Given the description of an element on the screen output the (x, y) to click on. 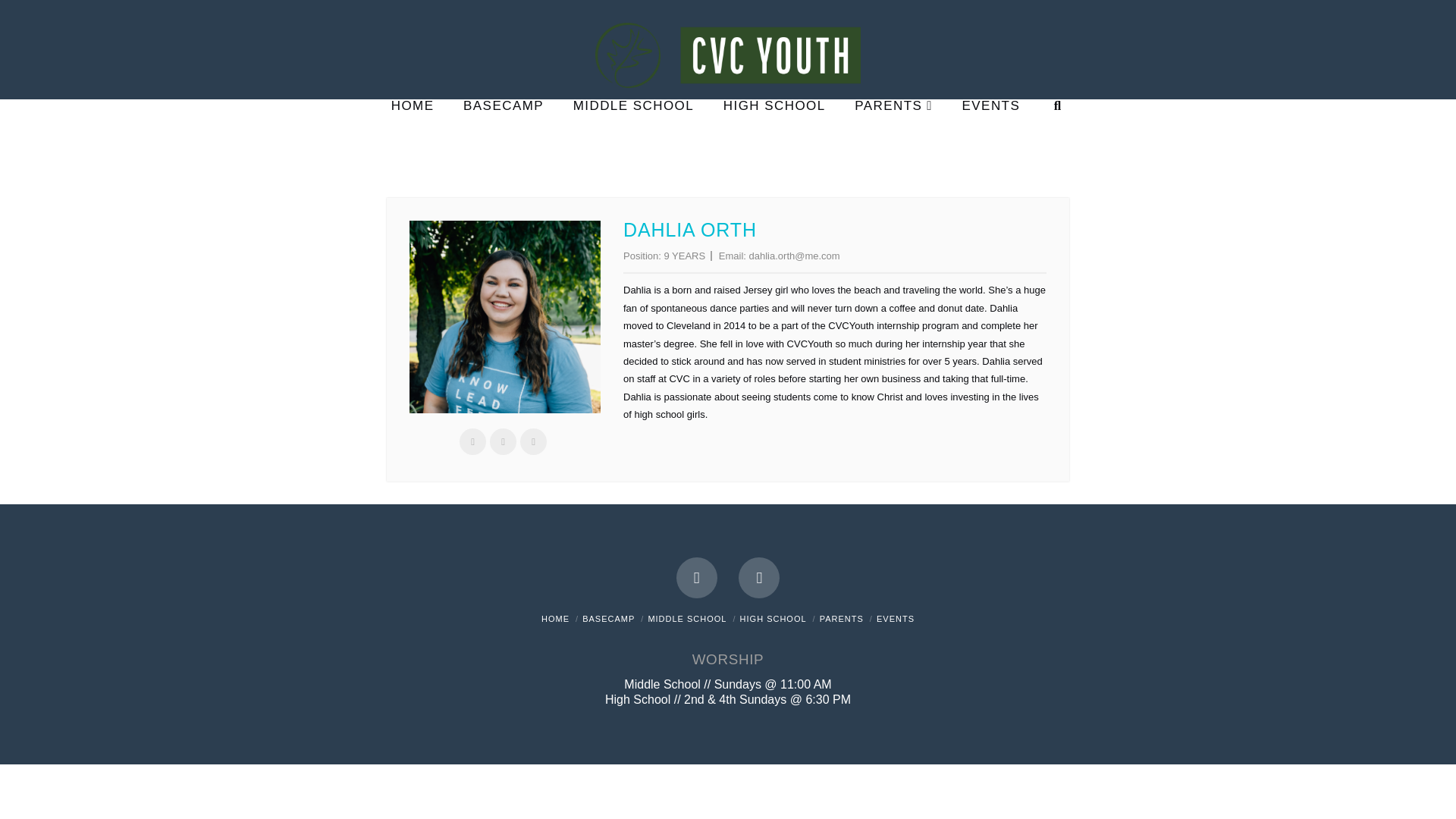
BASECAMP (608, 618)
HOME (555, 618)
BASECAMP (502, 137)
MIDDLE SCHOOL (632, 137)
PARENTS (841, 618)
EVENTS (990, 137)
MIDDLE SCHOOL (686, 618)
Instagram (758, 577)
Facebook (697, 577)
PARENTS (893, 137)
HIGH SCHOOL (772, 618)
EVENTS (895, 618)
HOME (411, 137)
HIGH SCHOOL (773, 137)
